Given the description of an element on the screen output the (x, y) to click on. 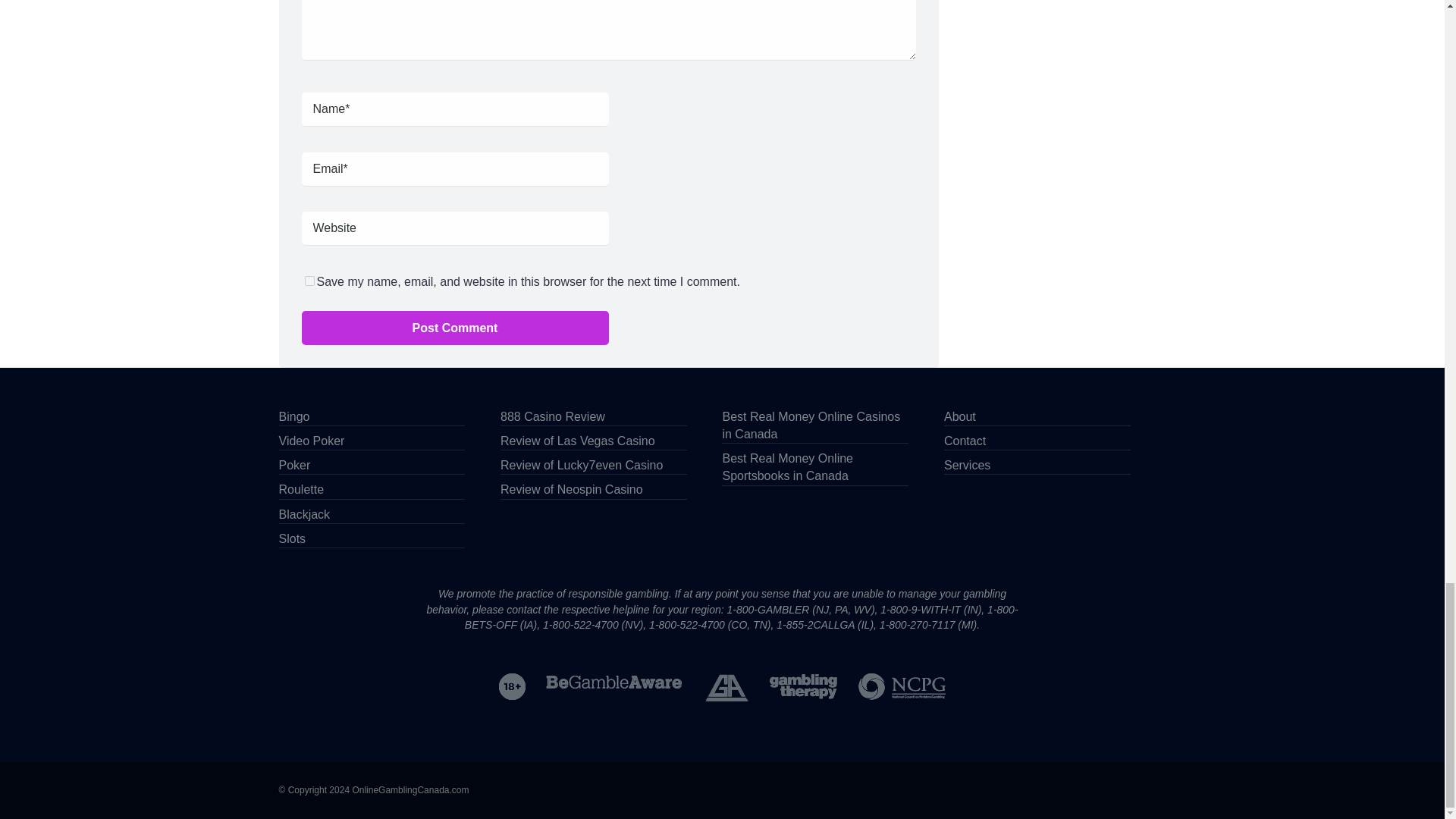
Slots (292, 537)
888 Casino Review (552, 415)
Review of Lucky7even Casino (581, 463)
Poker (295, 463)
Video Poker (312, 439)
Blackjack (304, 512)
Post Comment (454, 327)
yes (309, 280)
Review of Las Vegas Casino (577, 439)
Roulette (301, 487)
